Given the description of an element on the screen output the (x, y) to click on. 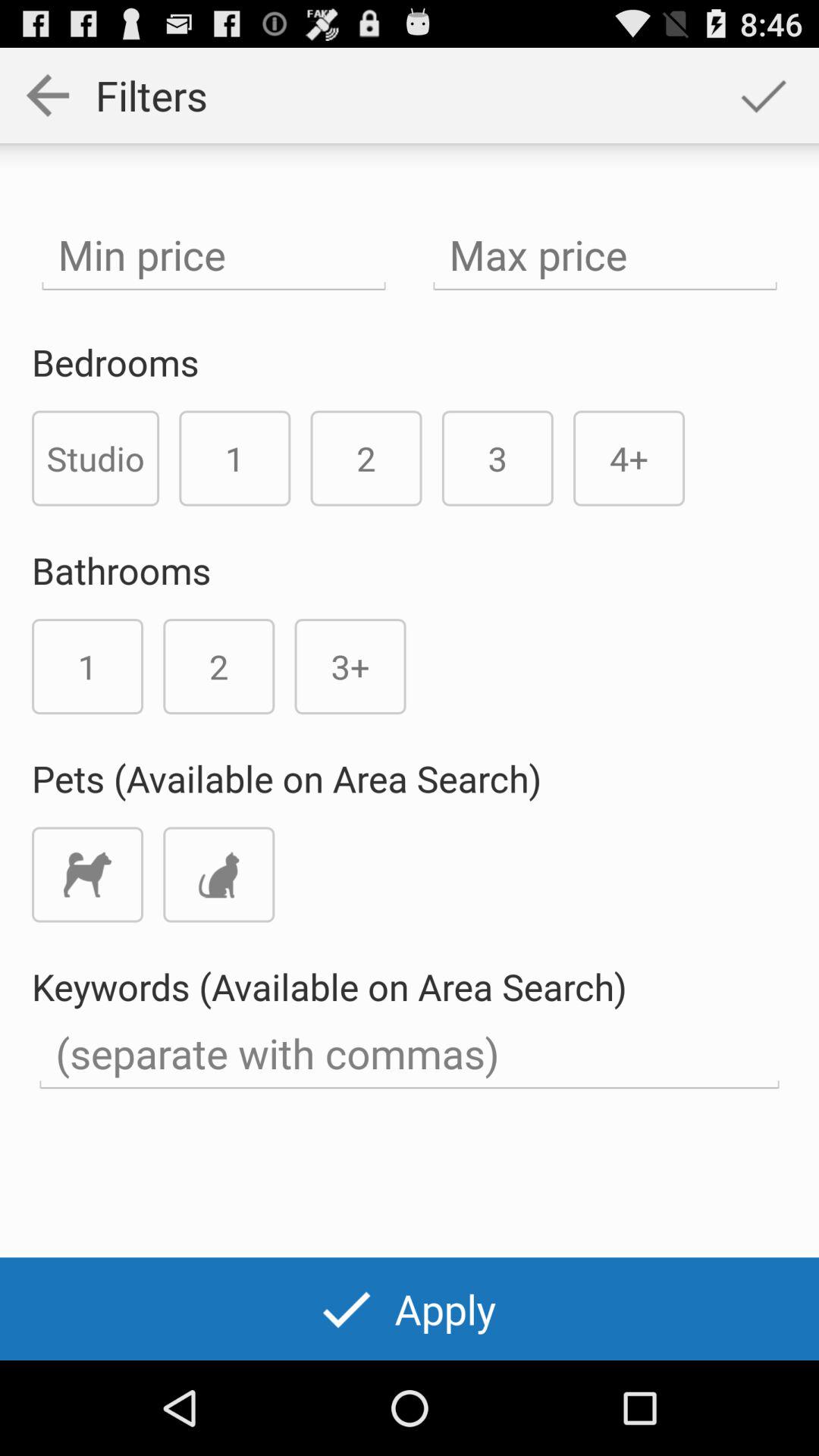
choose icon below pets available on (218, 874)
